Given the description of an element on the screen output the (x, y) to click on. 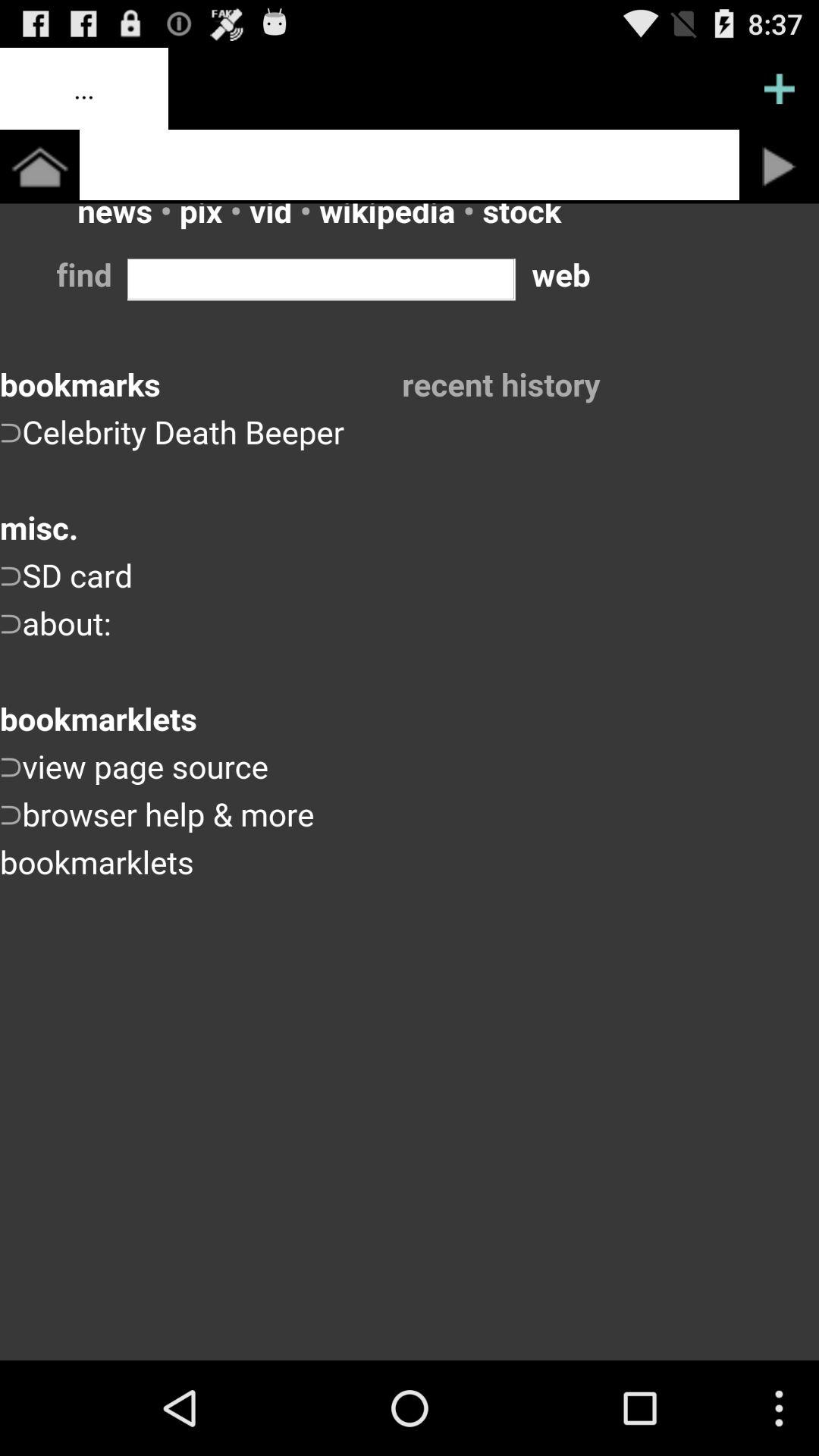
add new (779, 88)
